Given the description of an element on the screen output the (x, y) to click on. 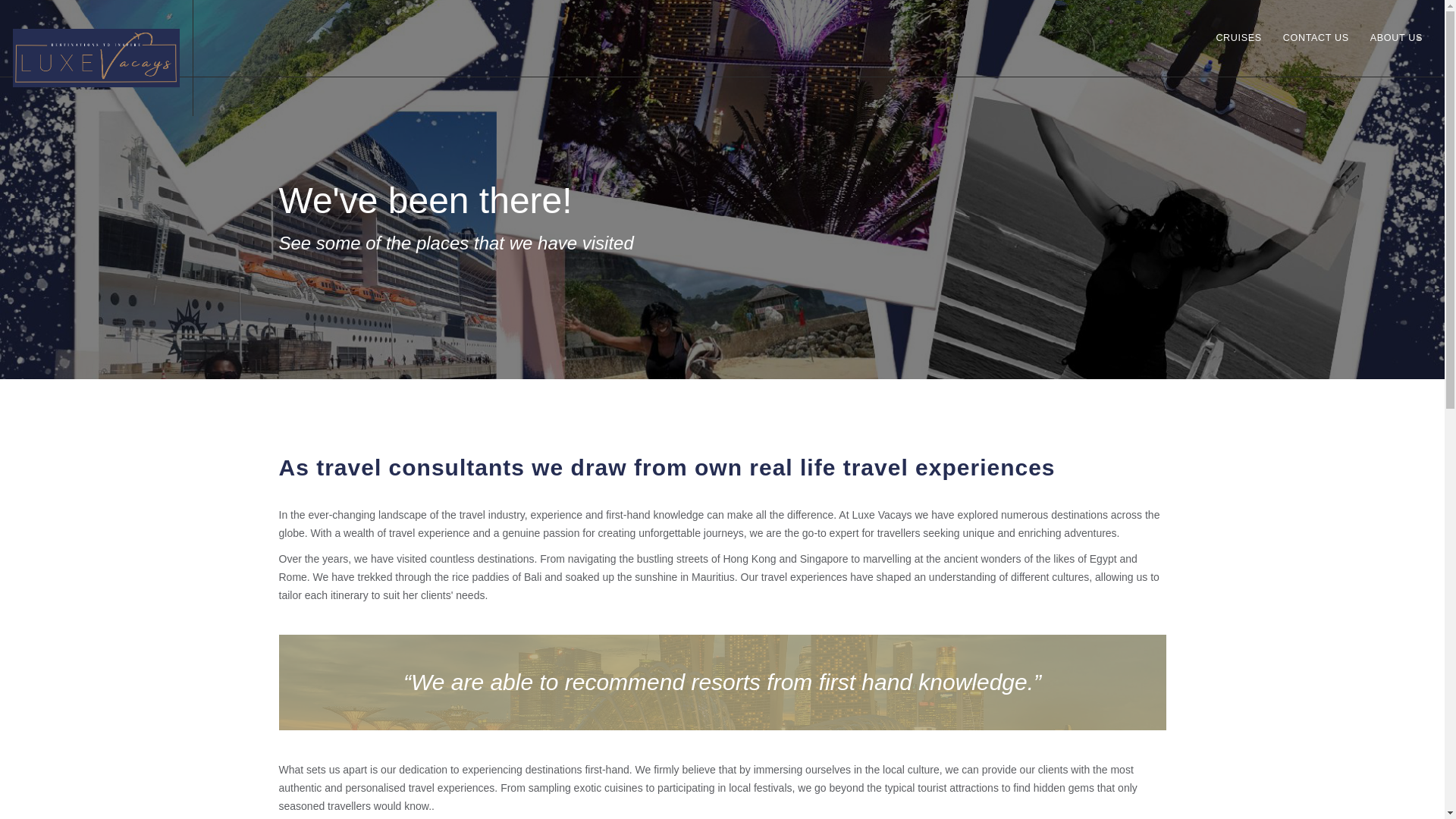
CRUISES (1237, 53)
CONTACT US (1315, 53)
ABOUT US (1396, 53)
